Given the description of an element on the screen output the (x, y) to click on. 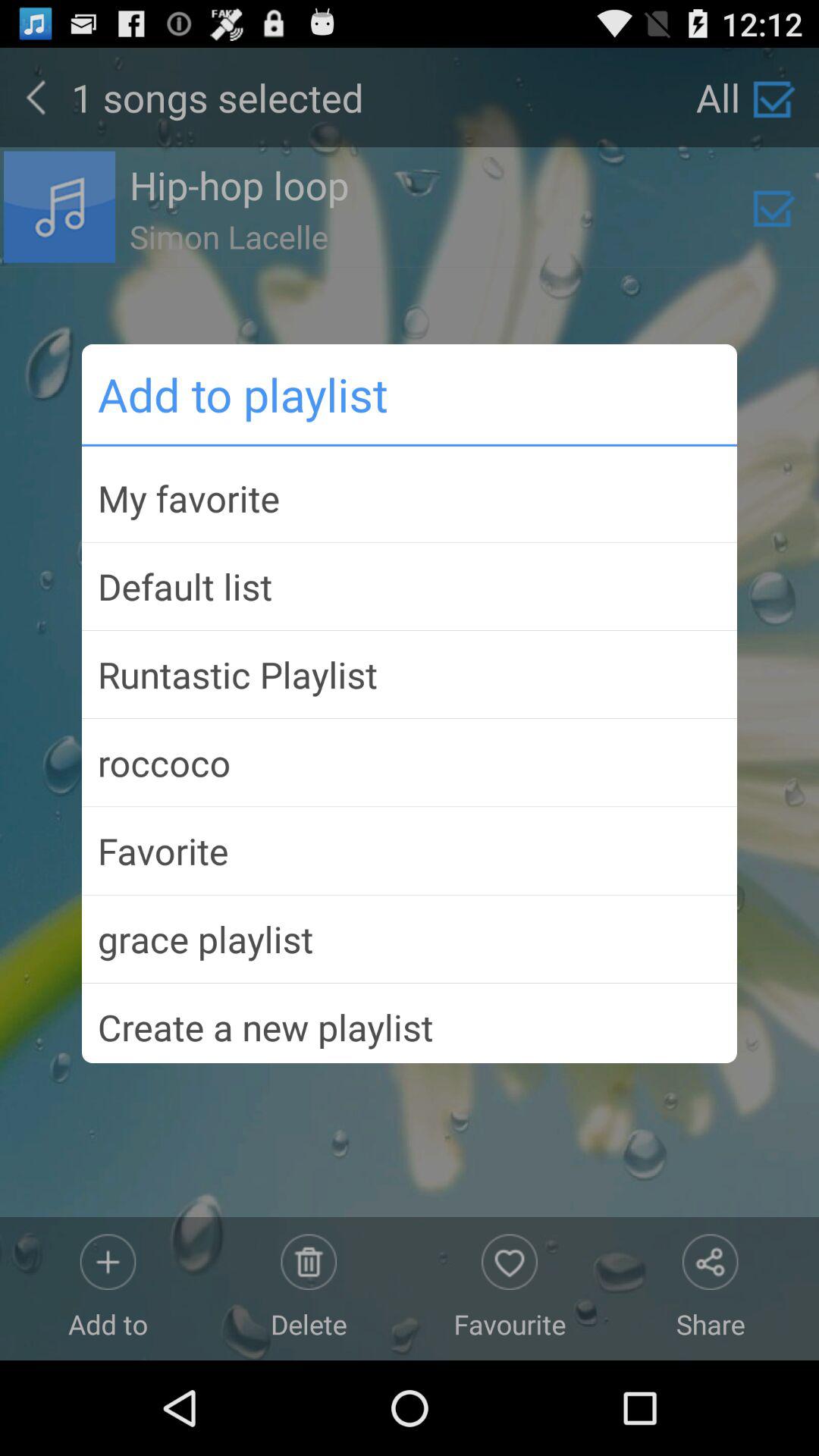
click my favorite item (409, 498)
